Given the description of an element on the screen output the (x, y) to click on. 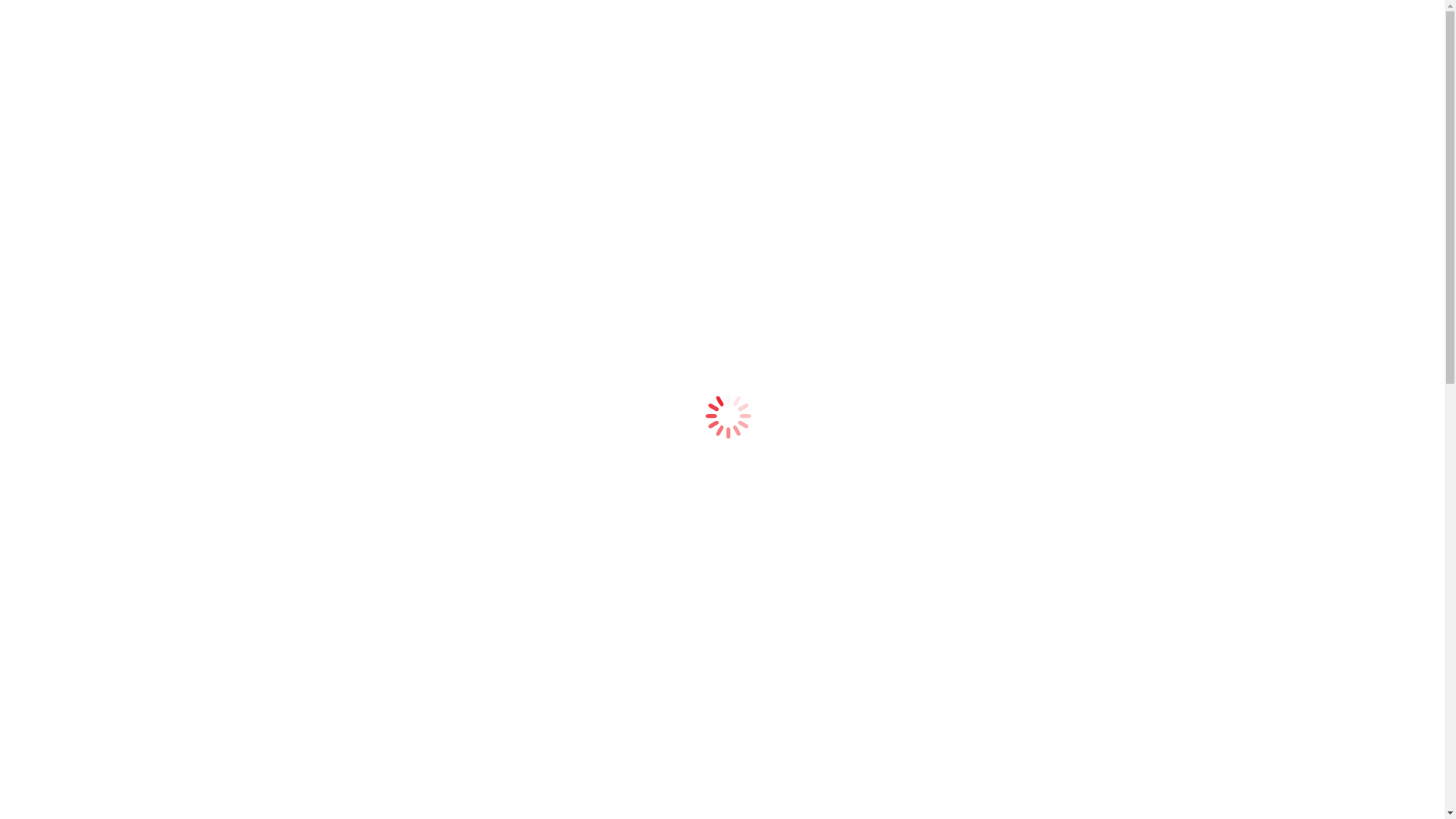
TKD Kabel Element type: text (79, 144)
Naslovna Element type: text (62, 209)
Naslovna Element type: text (62, 92)
Unika Element type: text (66, 235)
Kontakt Element type: text (59, 157)
Unika Element type: text (66, 118)
Home Element type: text (50, 374)
Kontakt Element type: text (59, 274)
TKD Kabel Element type: text (79, 260)
